Given the description of an element on the screen output the (x, y) to click on. 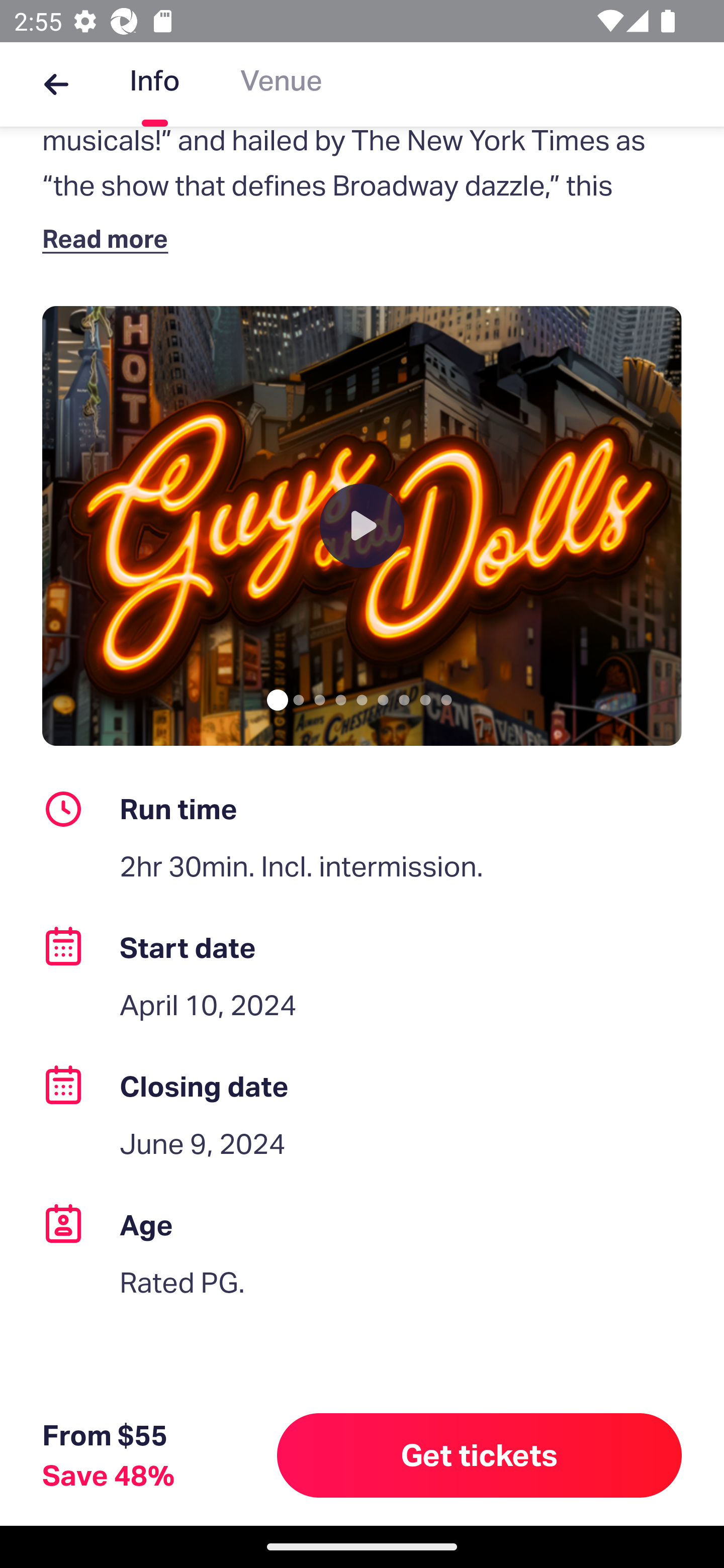
Venue (280, 84)
Read more (109, 238)
Get tickets (479, 1454)
